Given the description of an element on the screen output the (x, y) to click on. 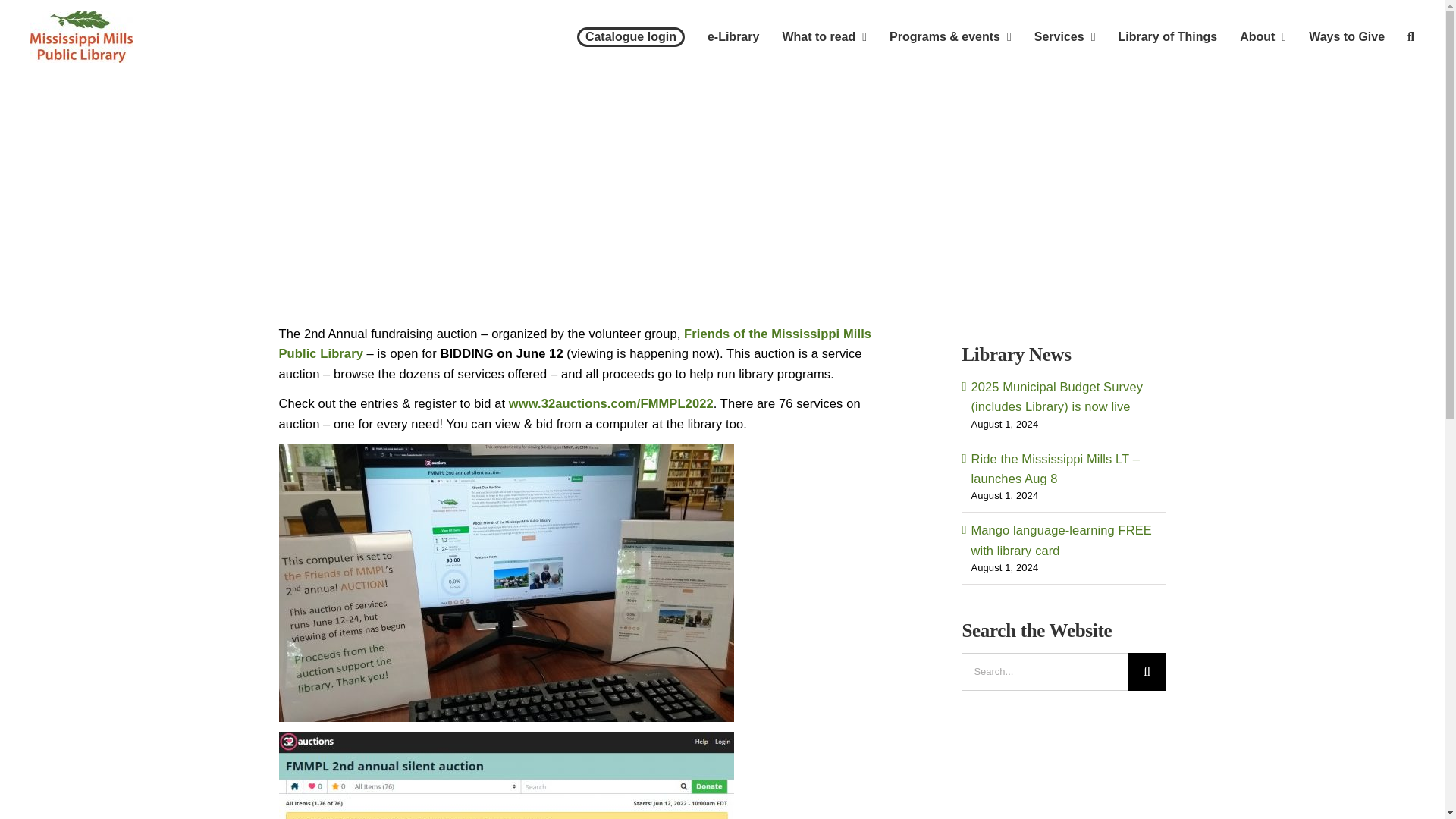
What to read (823, 36)
Friends of the Mississippi Mills Public Library (575, 343)
Library of Things (1167, 36)
Catalogue login (630, 36)
Ways to Give (1346, 36)
